Given the description of an element on the screen output the (x, y) to click on. 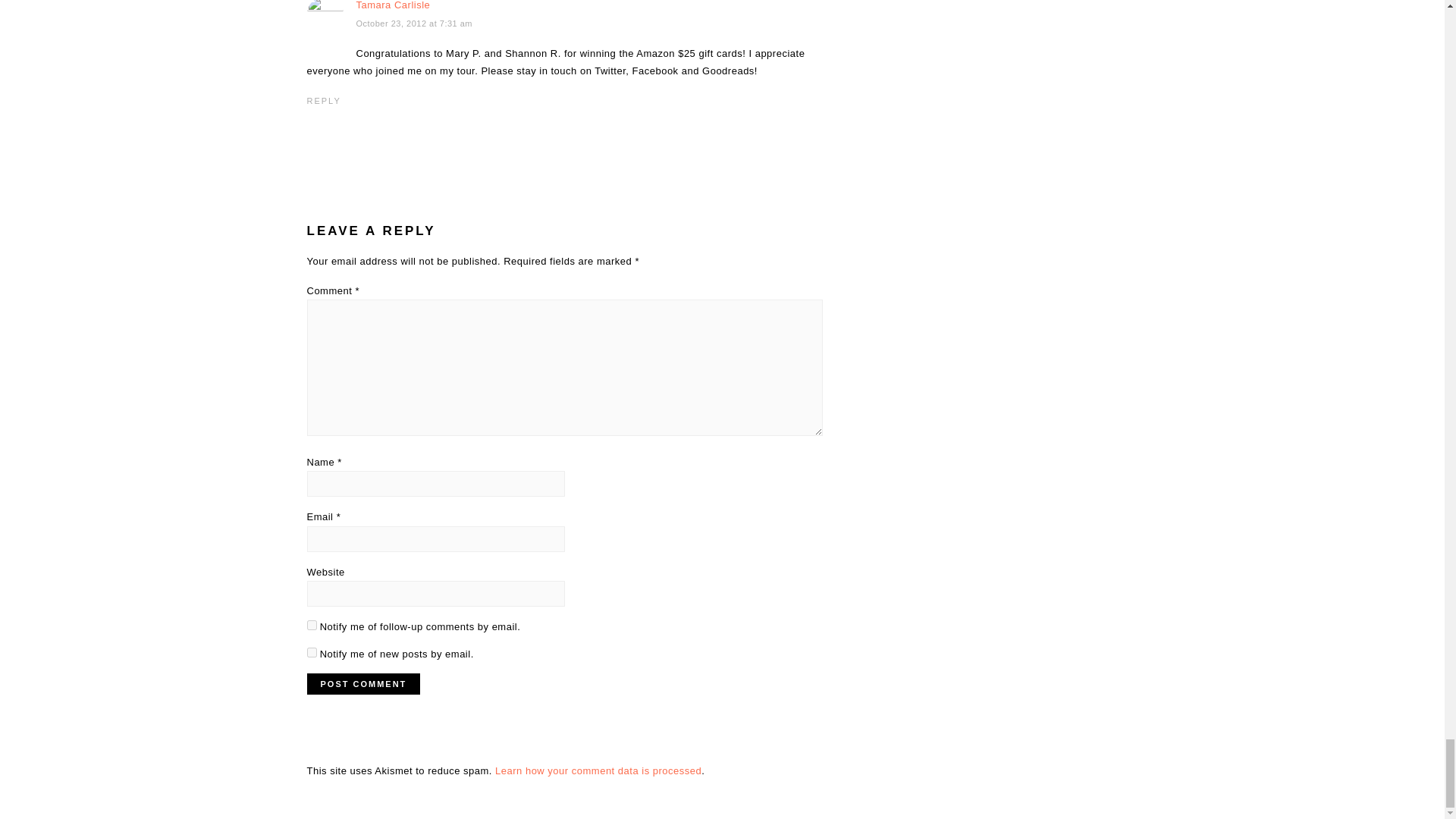
subscribe (310, 652)
subscribe (310, 624)
Post Comment (362, 683)
